Given the description of an element on the screen output the (x, y) to click on. 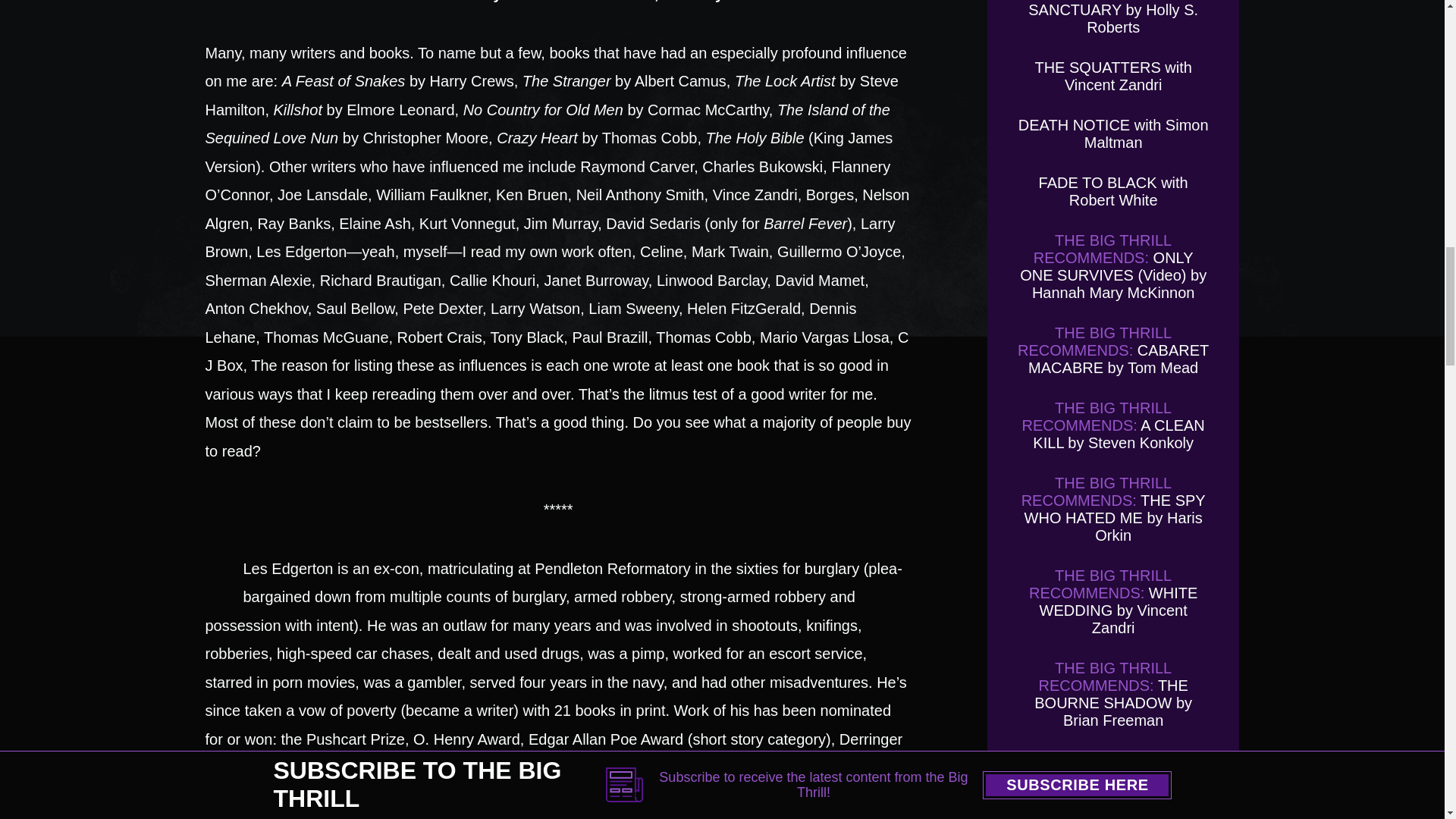
DEATH NOTICE with Simon Maltman (1112, 133)
THE SQUATTERS with Vincent Zandri (1112, 75)
The Big Thrill Recommends: SANCTUARY by Holly S. Roberts (1112, 18)
FADE TO BLACK with Robert White (1113, 191)
